Given the description of an element on the screen output the (x, y) to click on. 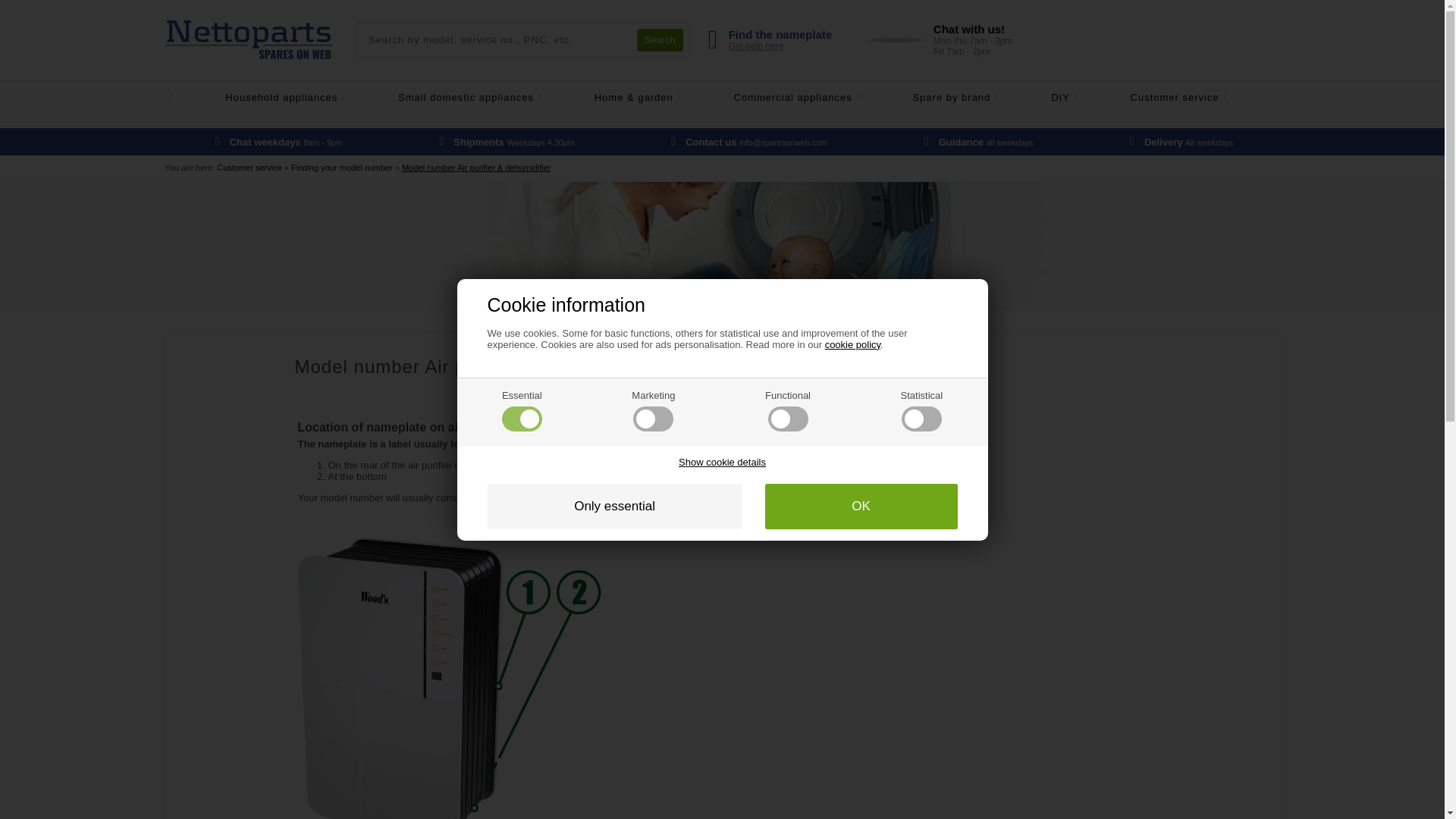
Search (659, 39)
Household appliances (311, 97)
Only essential (613, 506)
Small domestic appliances (495, 97)
OK (861, 506)
Spare by brand (981, 97)
Household appliances (311, 97)
Show cookie details (721, 461)
Customer service (1205, 97)
DIY (1090, 97)
Commercial appliances (822, 97)
Search (941, 39)
Customer service (659, 39)
Commercial appliances (1205, 97)
